Given the description of an element on the screen output the (x, y) to click on. 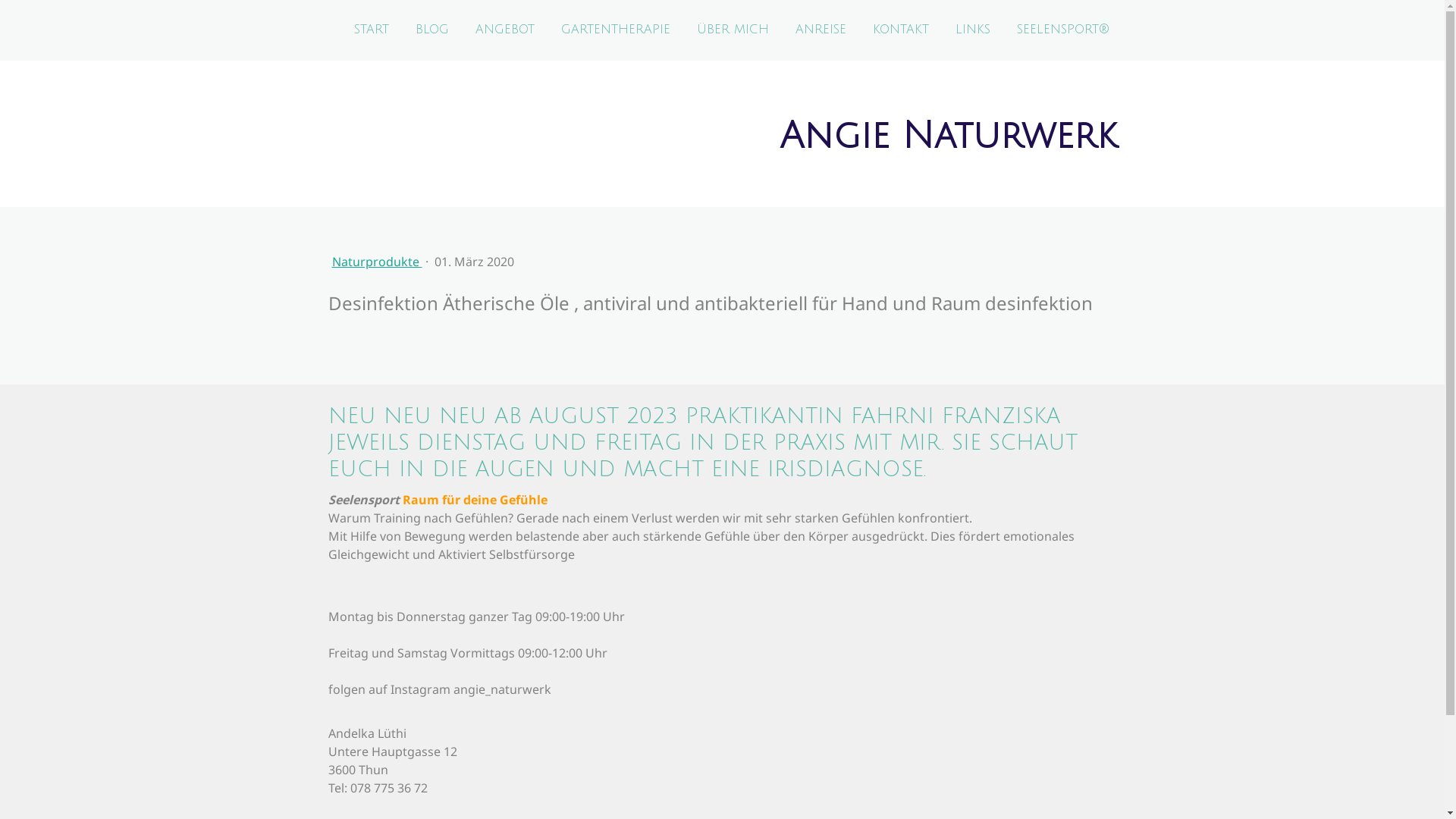
ANGEBOT Element type: text (505, 29)
START Element type: text (371, 29)
Naturprodukte Element type: text (377, 261)
LINKS Element type: text (972, 29)
BLOG Element type: text (431, 29)
Angie Naturwerk Element type: text (948, 142)
ANREISE Element type: text (820, 29)
GARTENTHERAPIE Element type: text (614, 29)
KONTAKT Element type: text (900, 29)
